Given the description of an element on the screen output the (x, y) to click on. 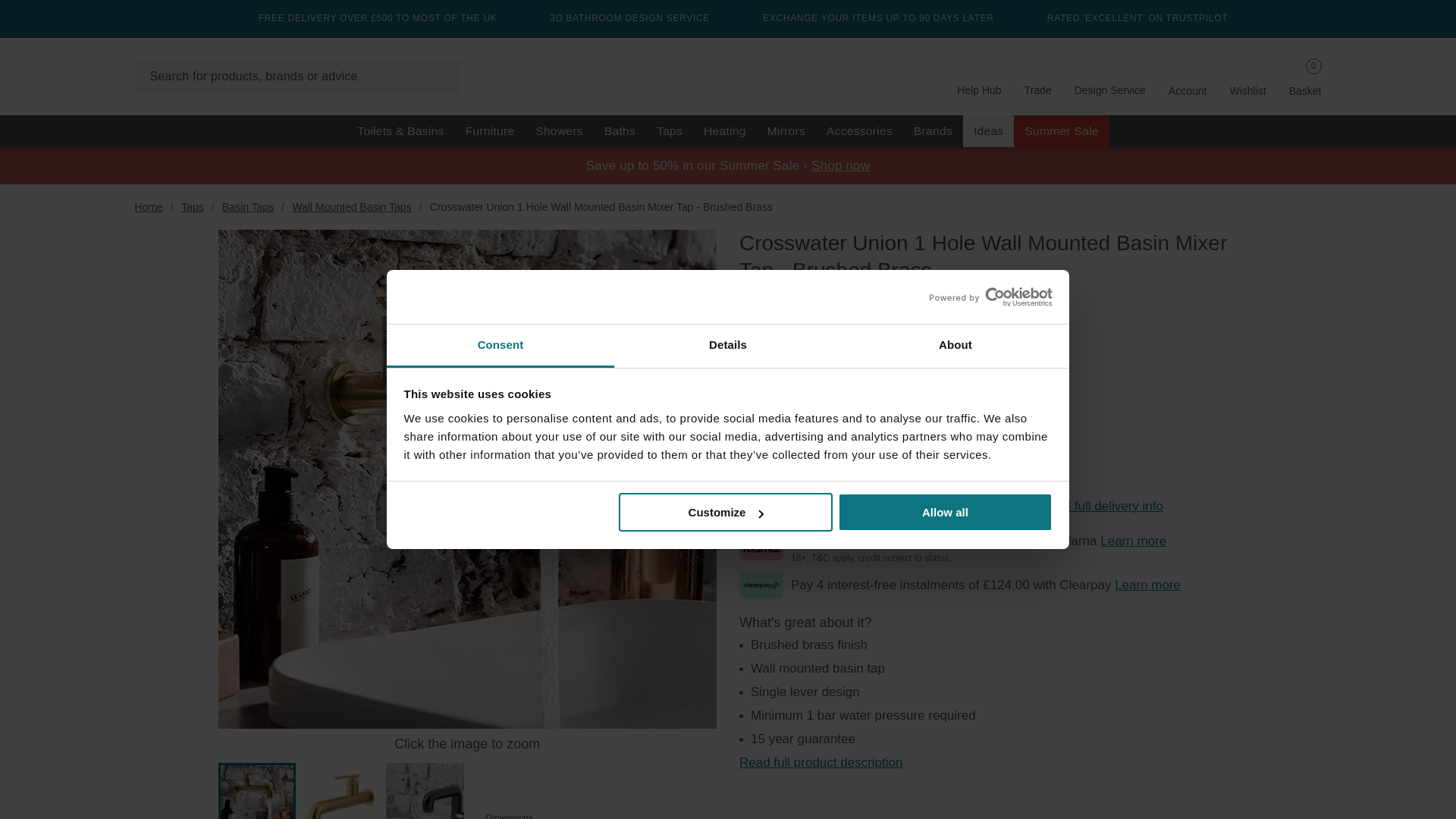
Details (727, 345)
Read full product description (820, 762)
Write one (937, 298)
About (954, 345)
About (954, 345)
Details (727, 345)
Consent (500, 345)
Consent (500, 345)
Read full delivery info (1101, 505)
